Given the description of an element on the screen output the (x, y) to click on. 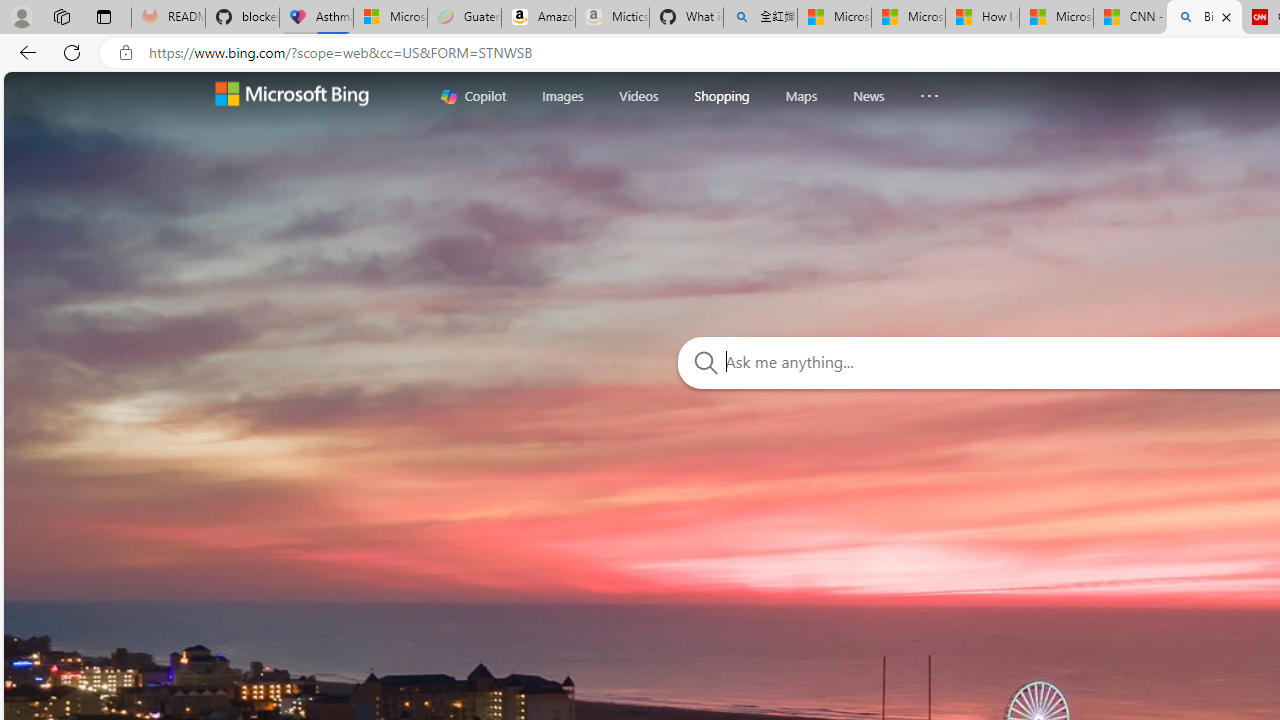
Videos (639, 95)
More (929, 91)
Welcome to Bing Search (291, 96)
Copilot (473, 95)
Copilot (473, 95)
Images (562, 95)
